Given the description of an element on the screen output the (x, y) to click on. 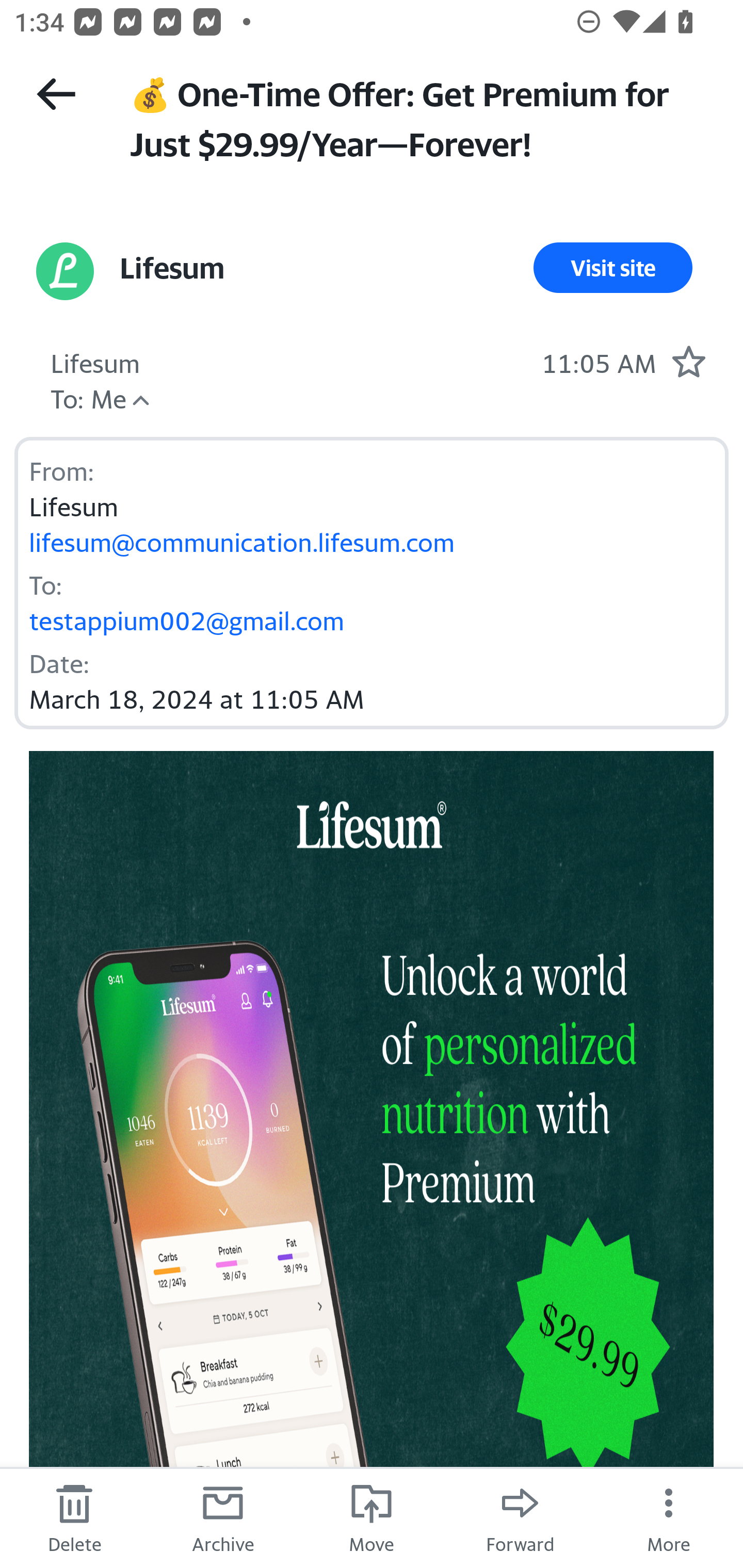
Back (55, 93)
View all messages from sender (64, 271)
Visit site Visit Site Link (612, 268)
Lifesum Sender Lifesum (171, 267)
Lifesum Sender Lifesum (95, 361)
Mark as starred. (688, 361)
To: Me Hide details (88, 396)
Delete (74, 1517)
Archive (222, 1517)
Move (371, 1517)
Forward (519, 1517)
More (668, 1517)
